Given the description of an element on the screen output the (x, y) to click on. 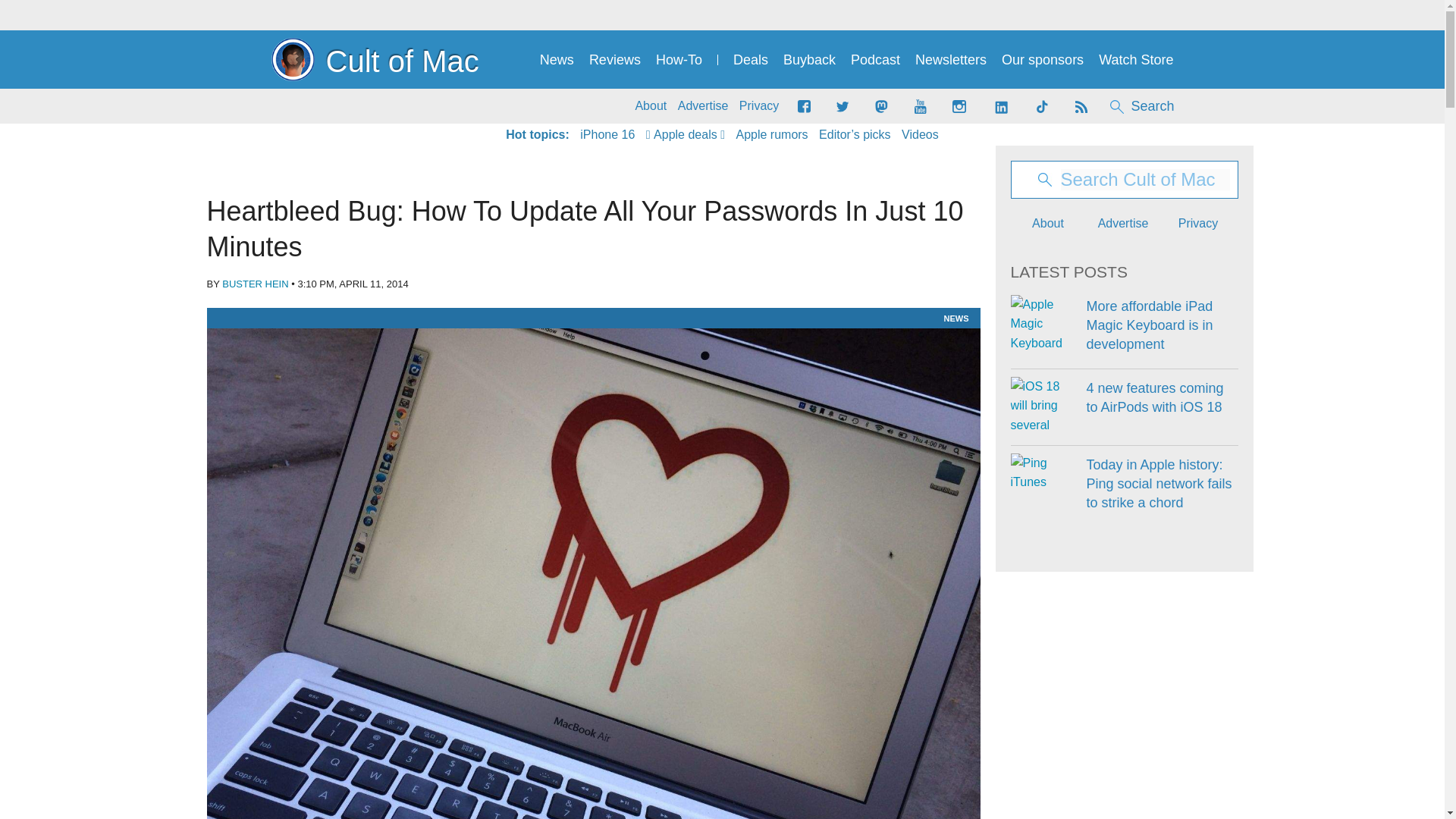
Privacy (758, 105)
Buyback (809, 59)
Apple rumors (771, 134)
Newsletters (950, 59)
iPhone 16 (606, 134)
How-To (678, 59)
Videos (920, 134)
Deals (750, 59)
Apple legal battles (771, 134)
